Given the description of an element on the screen output the (x, y) to click on. 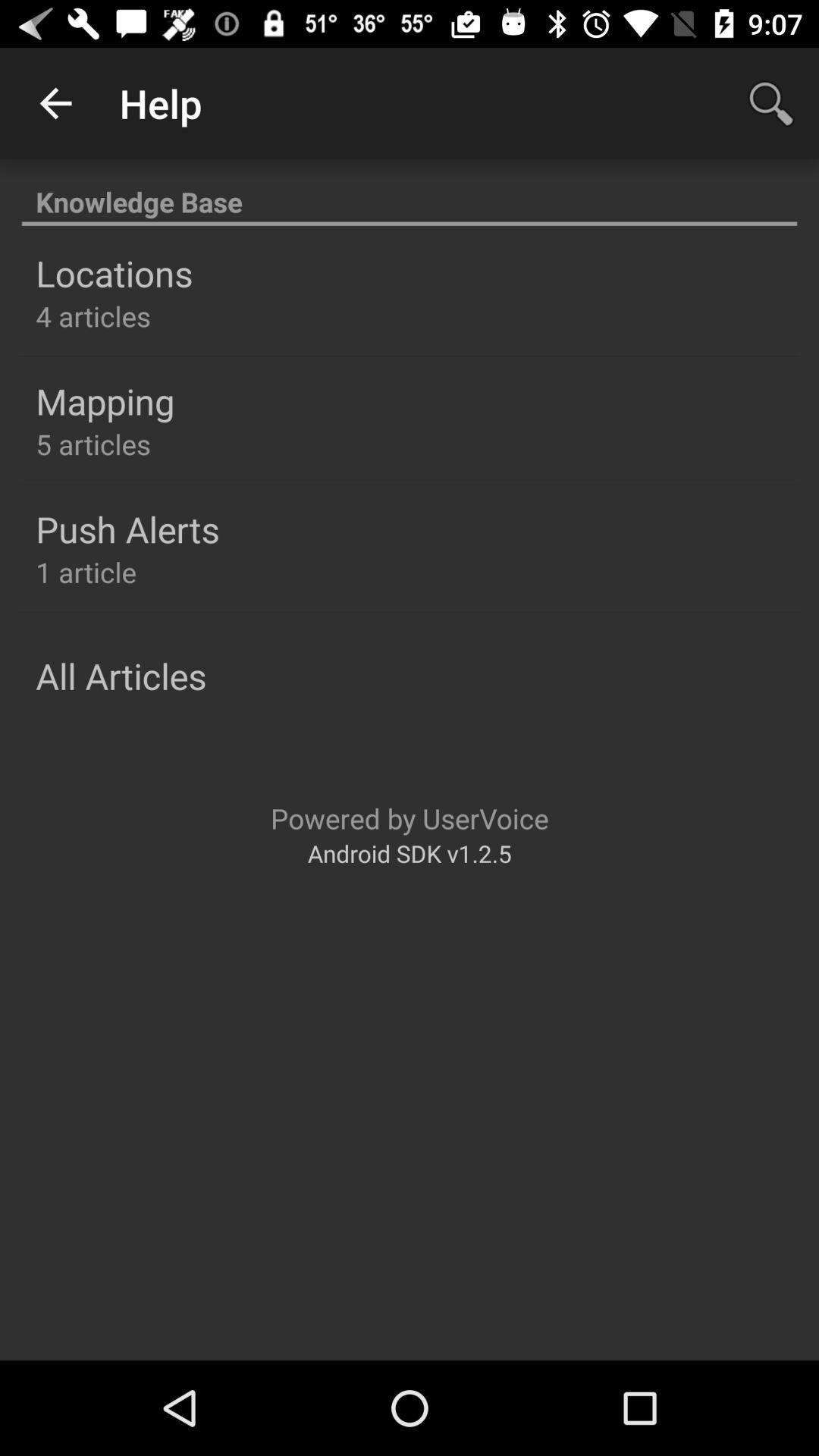
select item above the 1 article item (127, 529)
